Given the description of an element on the screen output the (x, y) to click on. 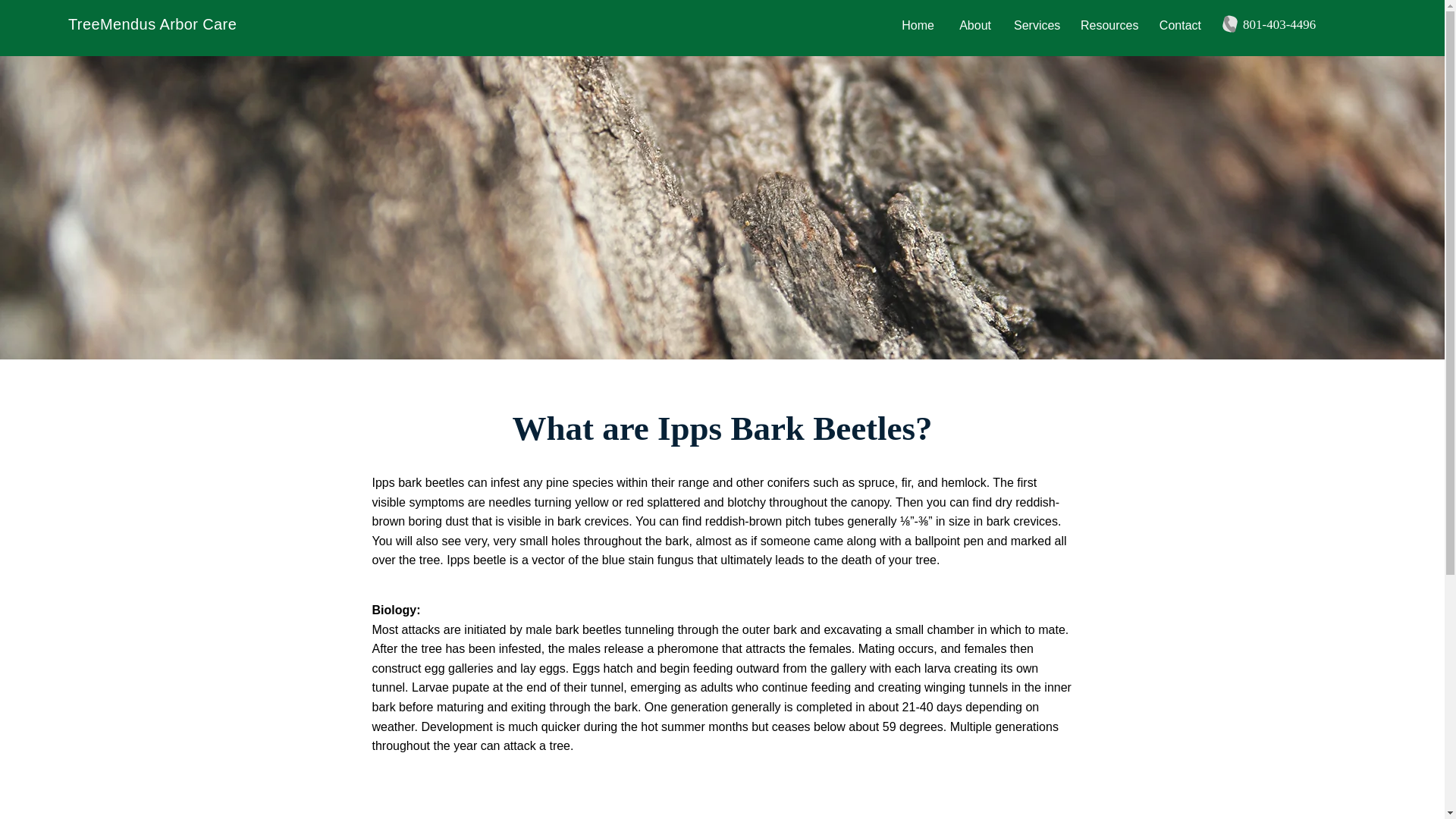
Contact (1179, 23)
TreeMendus Arbor Care (151, 23)
801-403-4496 (1279, 24)
Home (916, 23)
About (973, 23)
Services (1035, 23)
Resources (1107, 23)
